Given the description of an element on the screen output the (x, y) to click on. 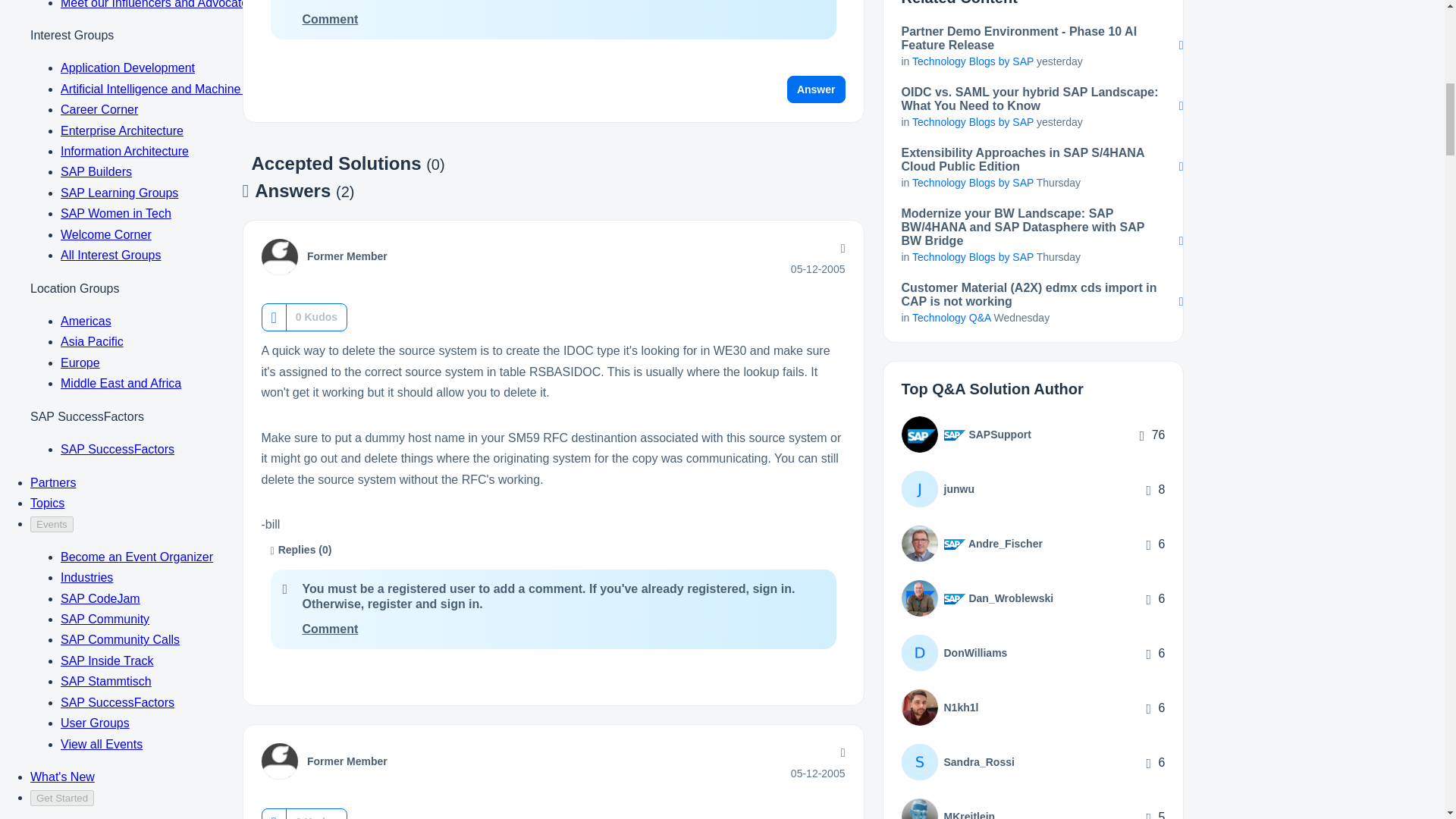
Comment (329, 628)
Comment (329, 19)
Answer (816, 89)
Posted on (817, 268)
The total number of kudos this post has received. (316, 316)
